Given the description of an element on the screen output the (x, y) to click on. 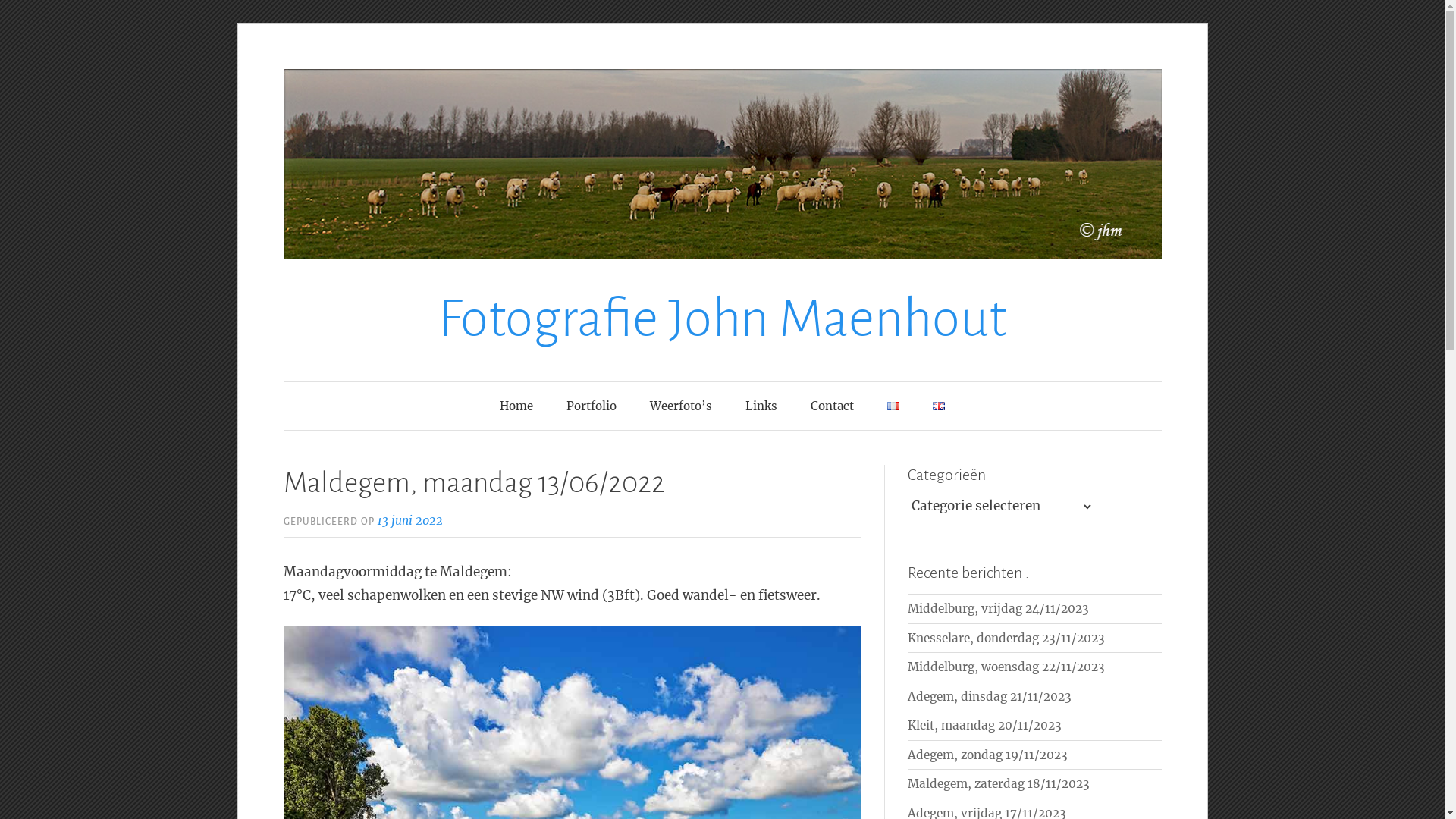
13 juni 2022 Element type: text (409, 520)
Adegem, zondag 19/11/2023 Element type: text (987, 754)
Ga verder naar inhoud Element type: text (236, 68)
Links Element type: text (761, 405)
Home Element type: text (516, 405)
Portfolio Element type: text (591, 405)
Knesselare, donderdag 23/11/2023 Element type: text (1005, 637)
Maldegem, zaterdag 18/11/2023 Element type: text (998, 783)
Middelburg, woensdag 22/11/2023 Element type: text (1005, 666)
Middelburg, vrijdag 24/11/2023 Element type: text (997, 608)
Kleit, maandag 20/11/2023 Element type: text (984, 725)
Contact Element type: text (832, 405)
Fotografie John Maenhout Element type: text (722, 318)
Adegem, dinsdag 21/11/2023 Element type: text (989, 696)
